Given the description of an element on the screen output the (x, y) to click on. 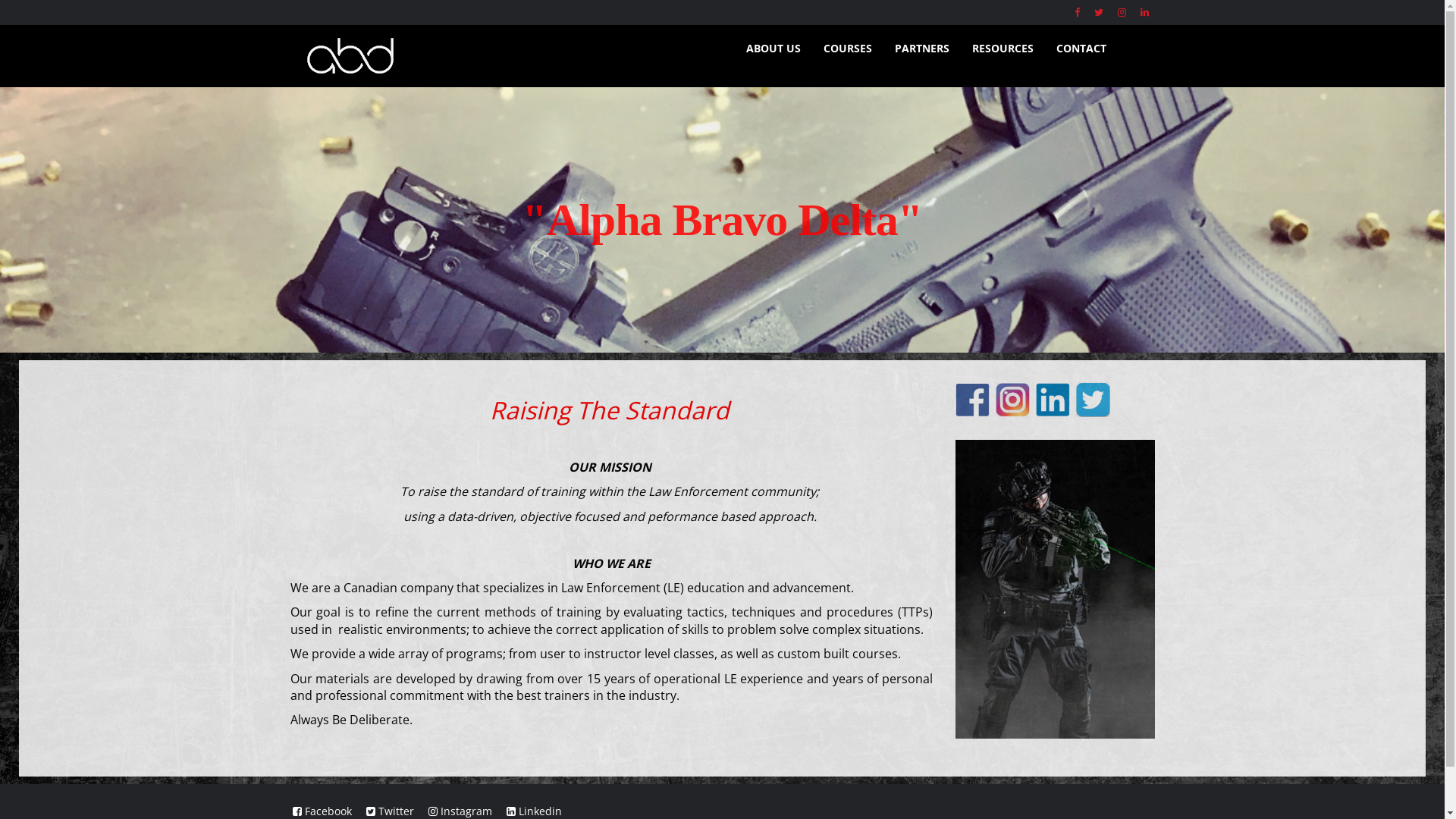
Facebook Element type: text (321, 810)
RESOURCES Element type: text (1002, 48)
COURSES Element type: text (846, 48)
ABOUT US Element type: text (772, 48)
Instagram Element type: text (459, 810)
PARTNERS Element type: text (921, 48)
ABD Concepts.ca Element type: hover (499, 55)
CONTACT Element type: text (1080, 48)
Linkedin Element type: text (533, 810)
Twitter Element type: text (389, 810)
